Given the description of an element on the screen output the (x, y) to click on. 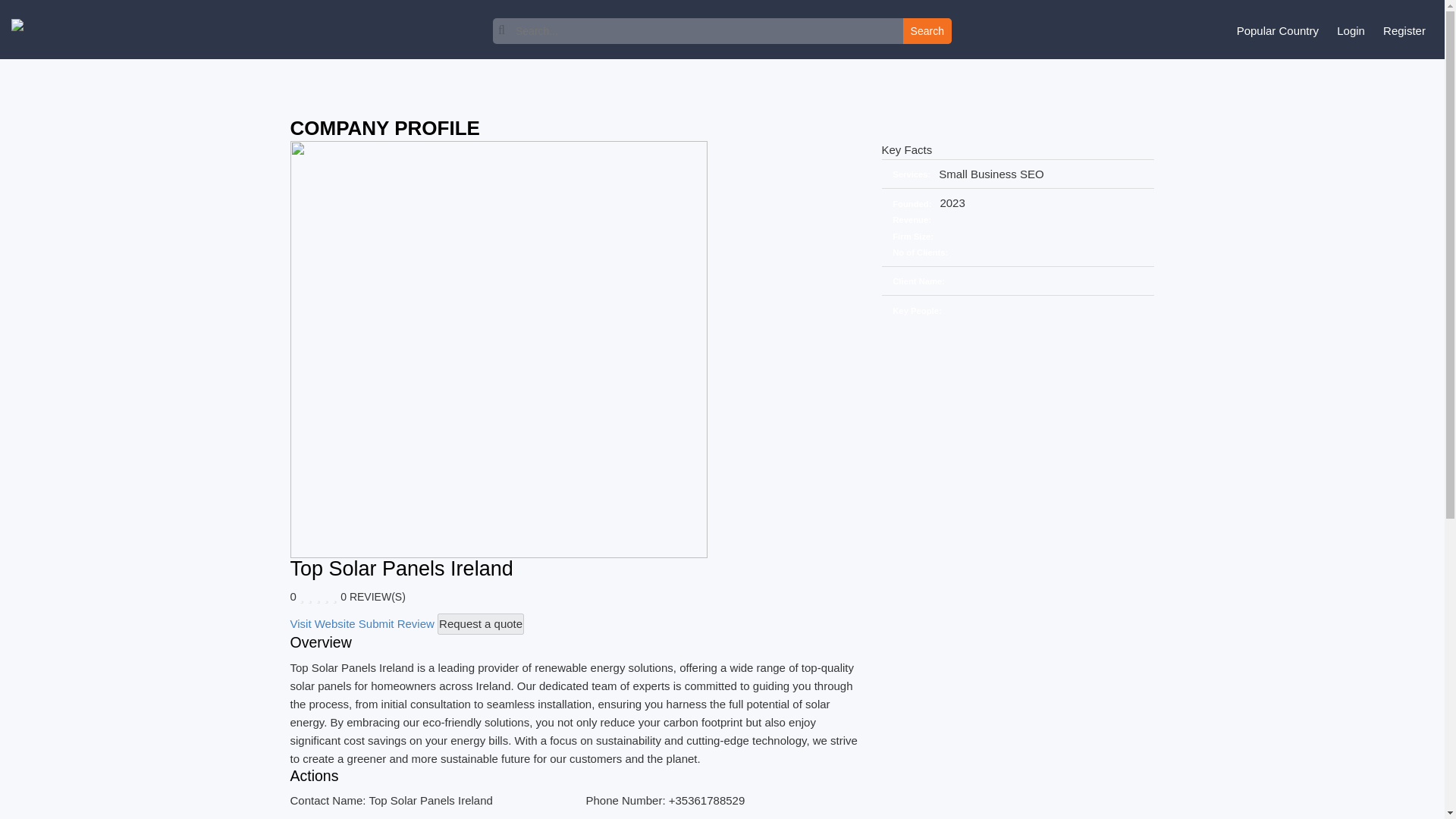
Submit Review (395, 623)
Login (1351, 30)
Search (927, 31)
Visit Website (322, 623)
Request a quote (481, 623)
Popular Country (1277, 30)
Register (1403, 30)
